Given the description of an element on the screen output the (x, y) to click on. 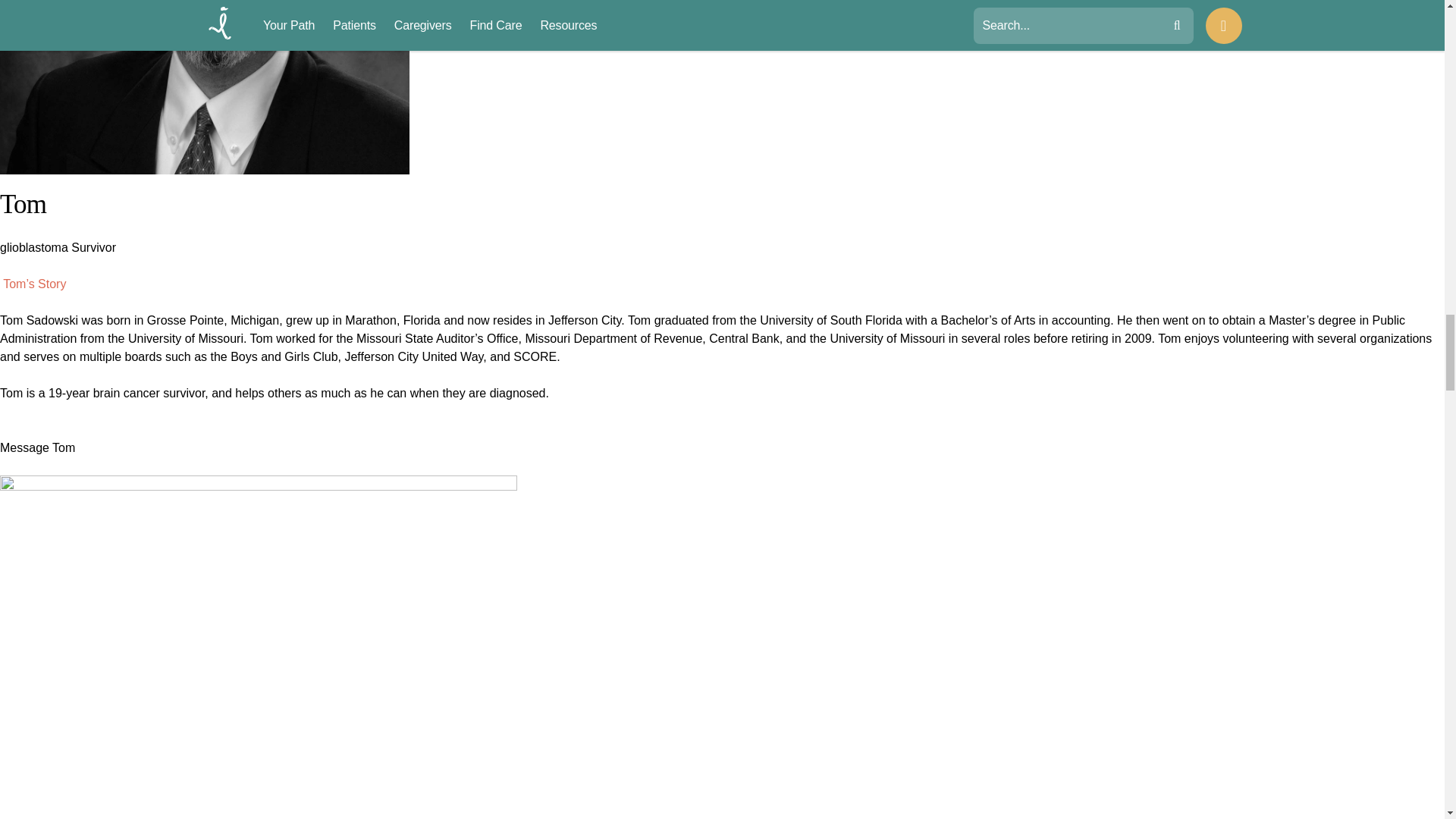
Message Tom (37, 456)
